Given the description of an element on the screen output the (x, y) to click on. 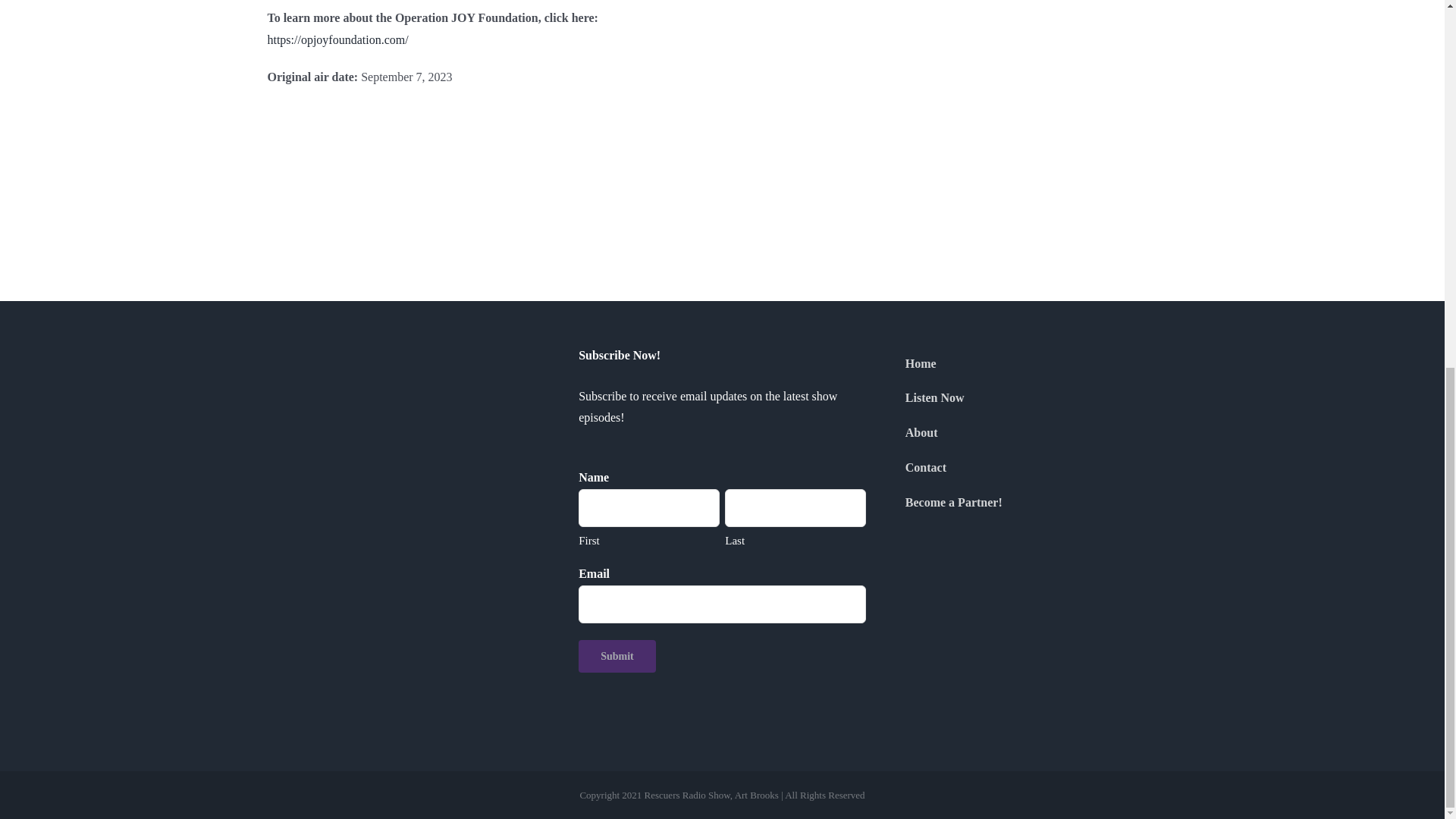
Submit (617, 655)
Home (1032, 364)
Listen Now (1032, 398)
About (1032, 433)
Become a Partner! (1032, 503)
Submit (617, 655)
Contact (1032, 468)
